Given the description of an element on the screen output the (x, y) to click on. 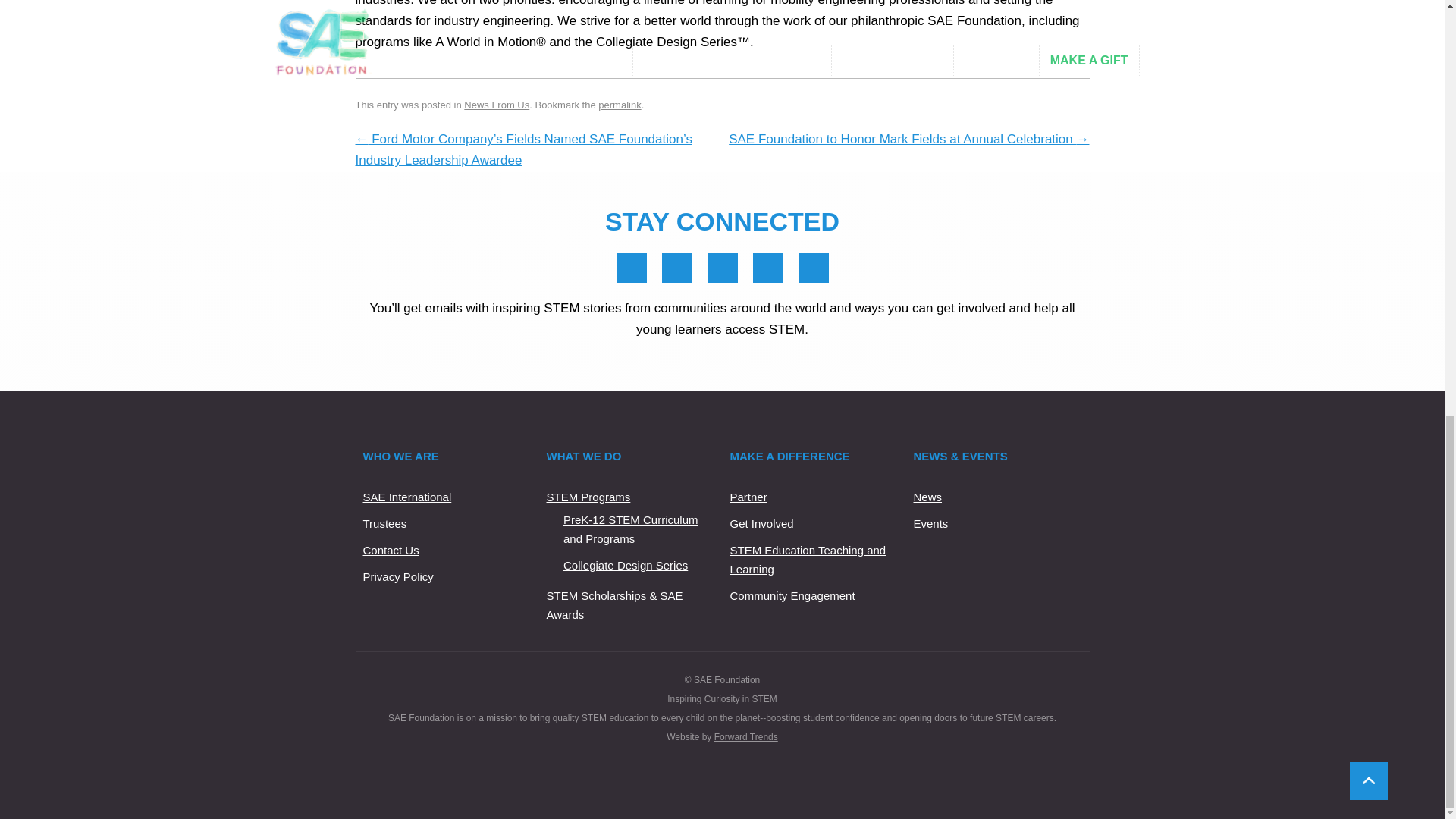
YouTube (767, 267)
Facebook (631, 267)
Facebook (630, 267)
LinkedIn (676, 267)
Twitter (721, 267)
Email Us (813, 267)
News From Us (496, 104)
YouTube (767, 267)
Twitter (721, 267)
permalink (619, 104)
